Given the description of an element on the screen output the (x, y) to click on. 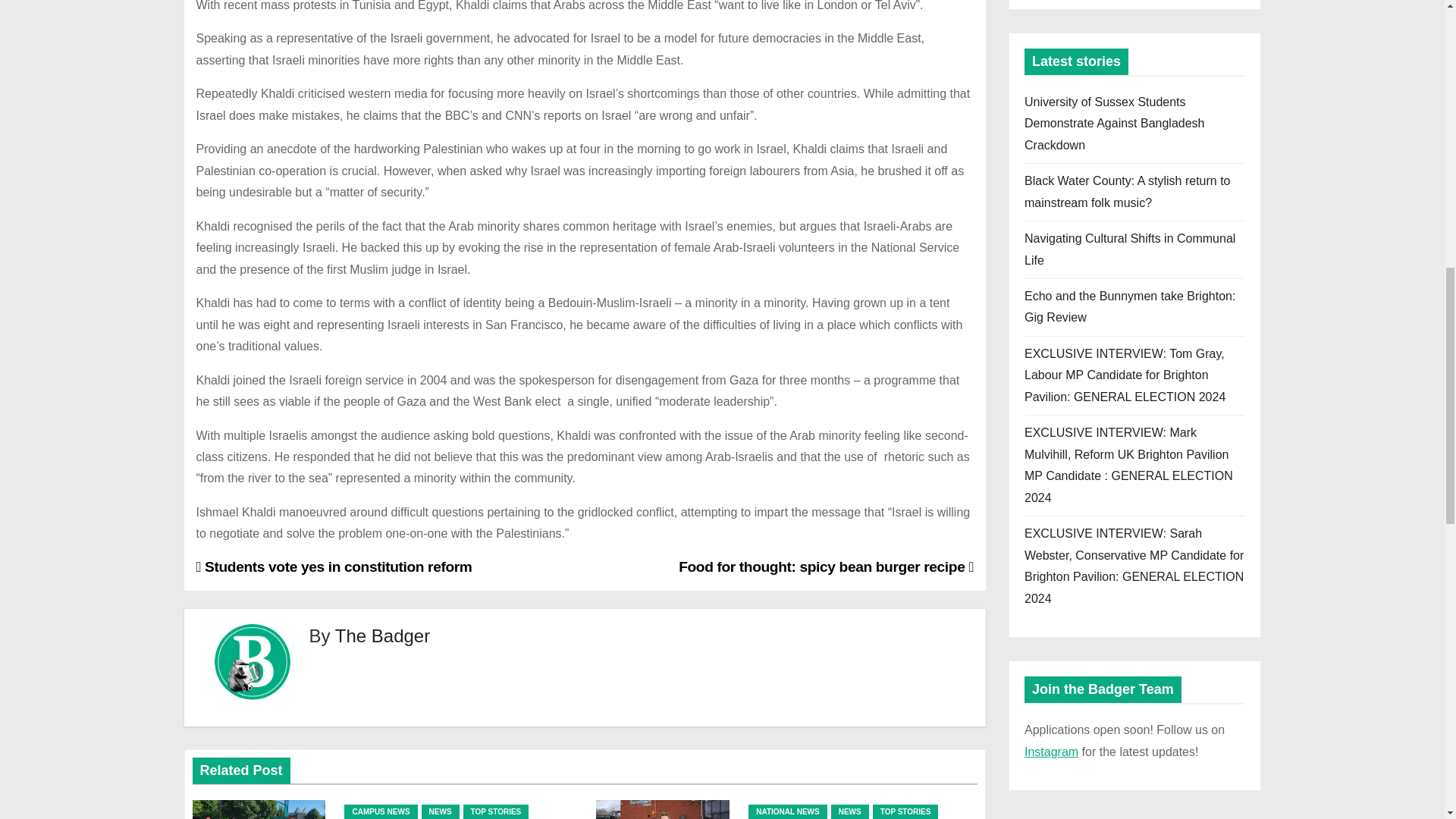
Students vote yes in constitution reform (333, 566)
Food for thought: spicy bean burger recipe (826, 566)
